Given the description of an element on the screen output the (x, y) to click on. 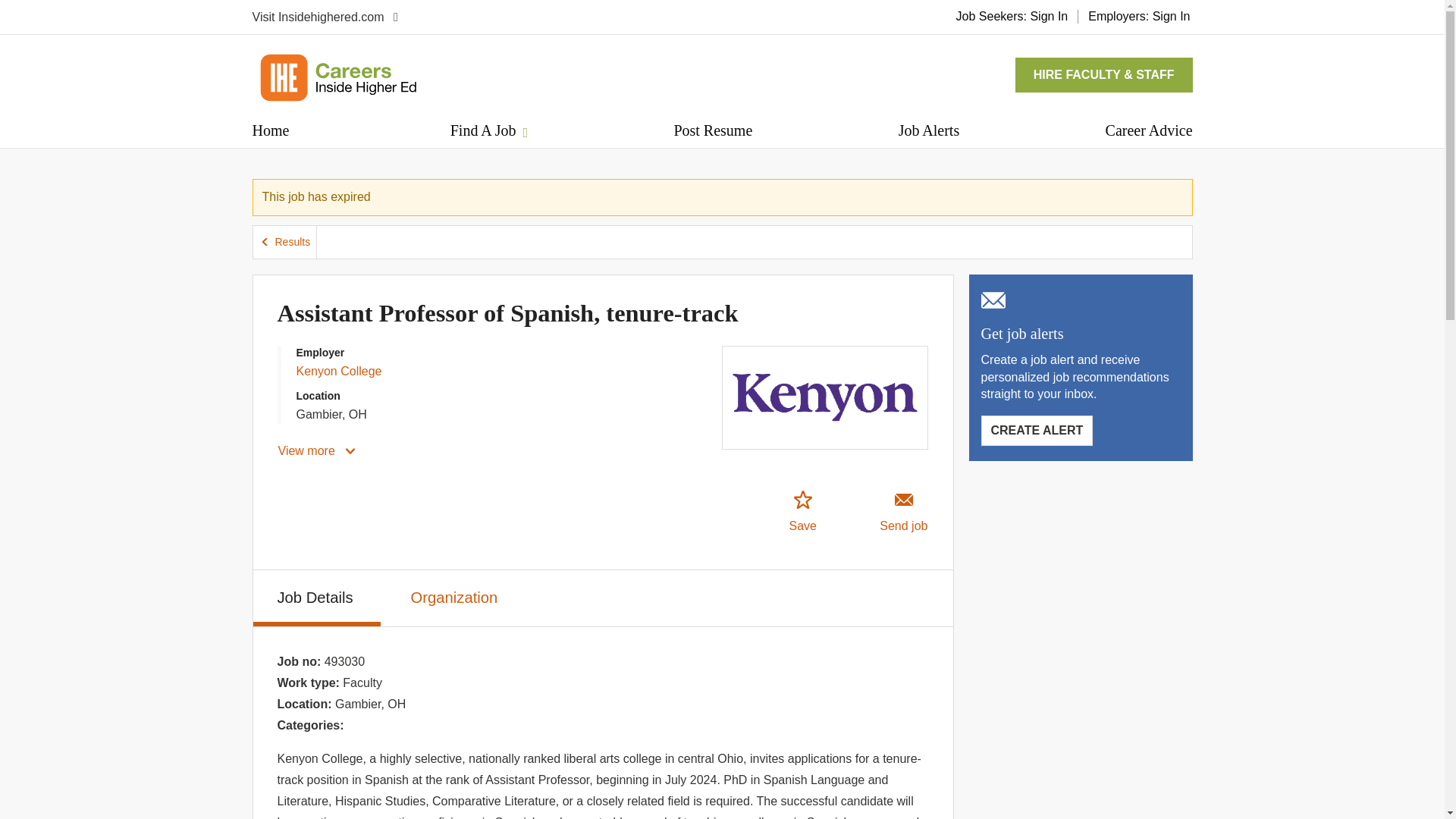
Send job (903, 512)
Employers: Sign In (1139, 16)
Organization (456, 595)
Kenyon College (338, 370)
Inside Higher Ed Careers (337, 76)
Home (802, 512)
Career Advice (269, 130)
View more (1148, 130)
Post Resume (318, 451)
Results (712, 130)
Job Seekers: Sign In (285, 242)
Job Details (1011, 16)
Job Alerts (316, 598)
